Given the description of an element on the screen output the (x, y) to click on. 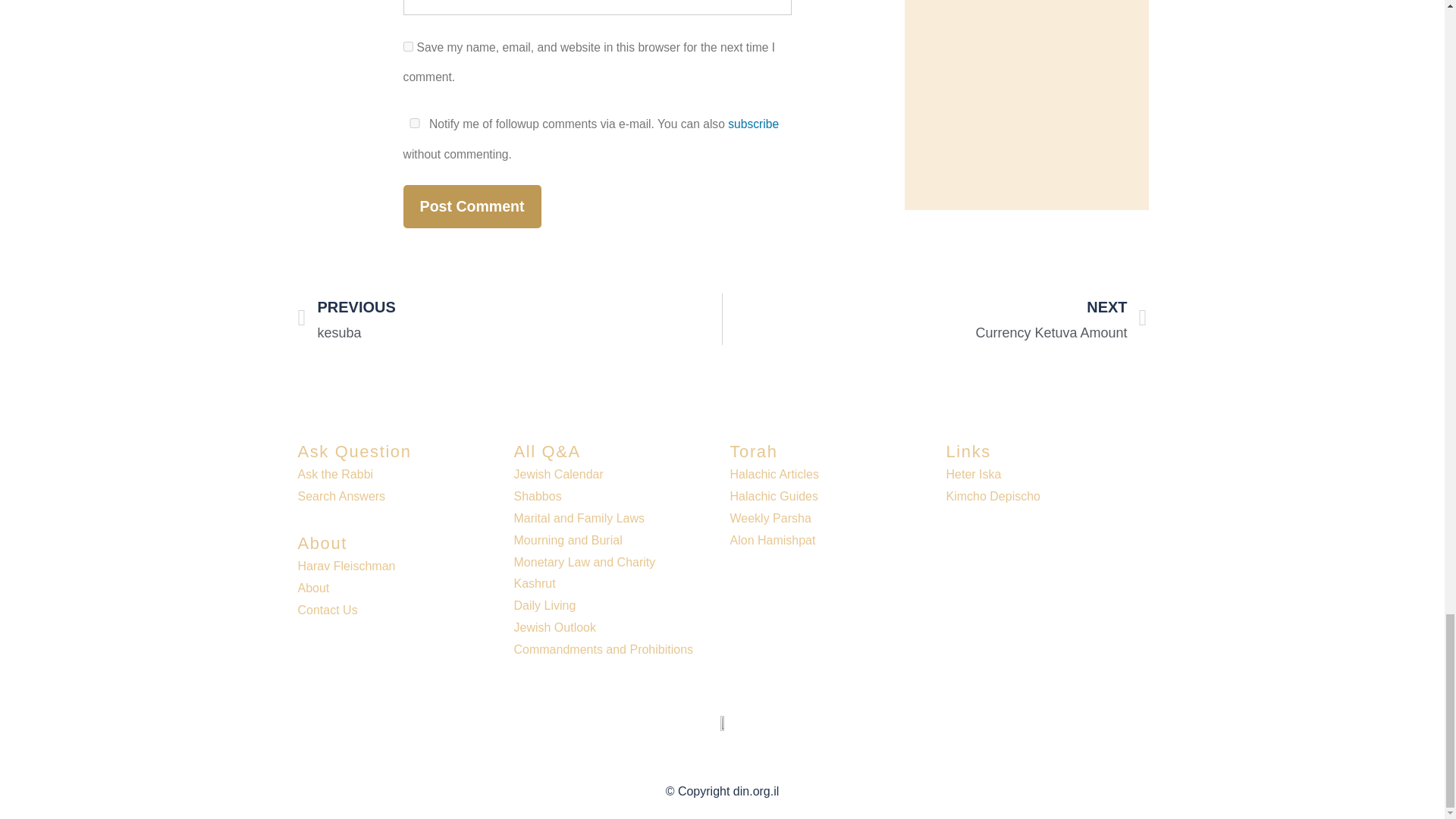
subscribe (753, 123)
yes (414, 122)
yes (408, 46)
Post Comment (472, 206)
Post Comment (472, 206)
